Given the description of an element on the screen output the (x, y) to click on. 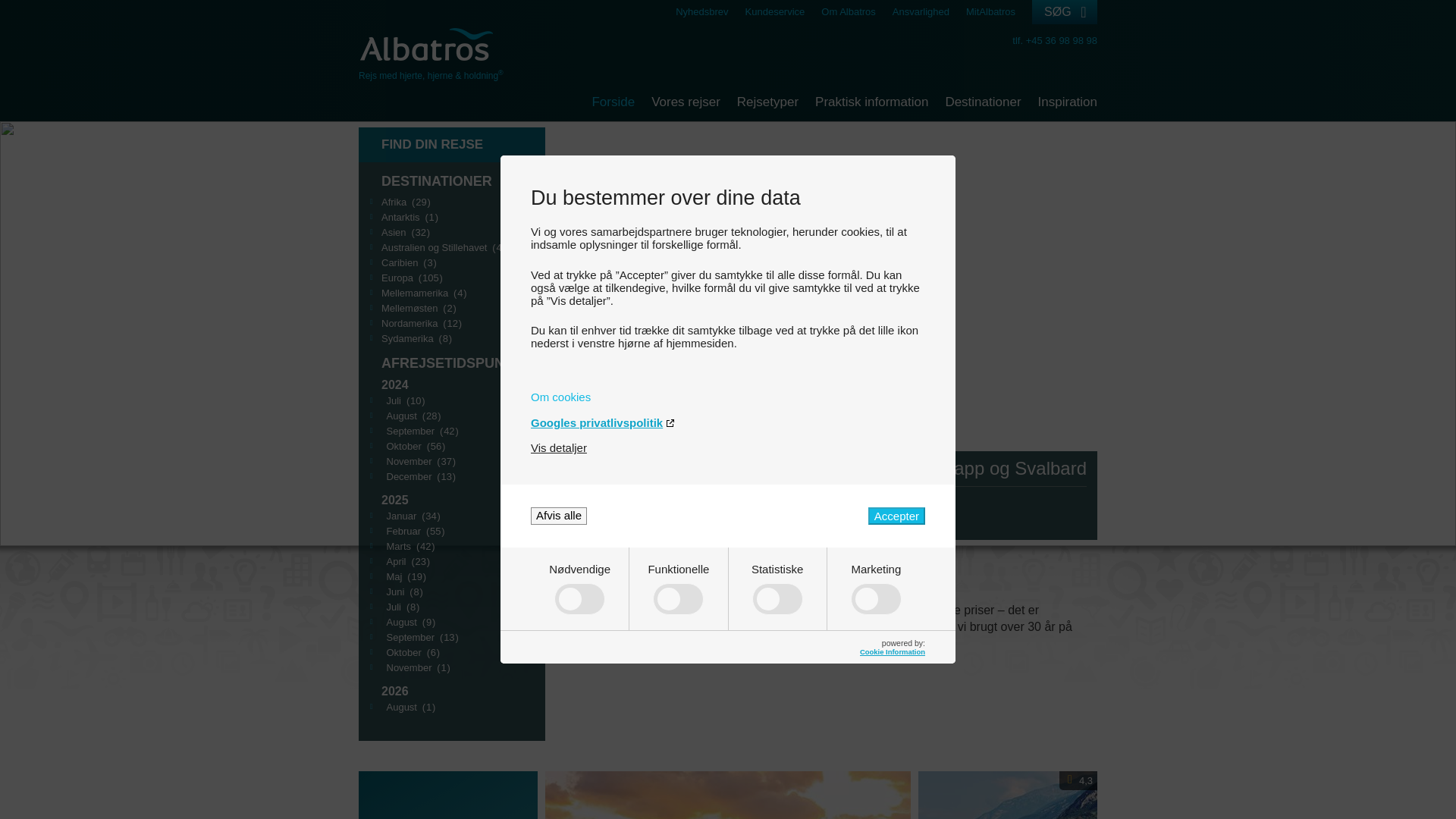
Vis detaljer (558, 447)
Googles privatlivspolitik (727, 422)
Om cookies (727, 396)
